Given the description of an element on the screen output the (x, y) to click on. 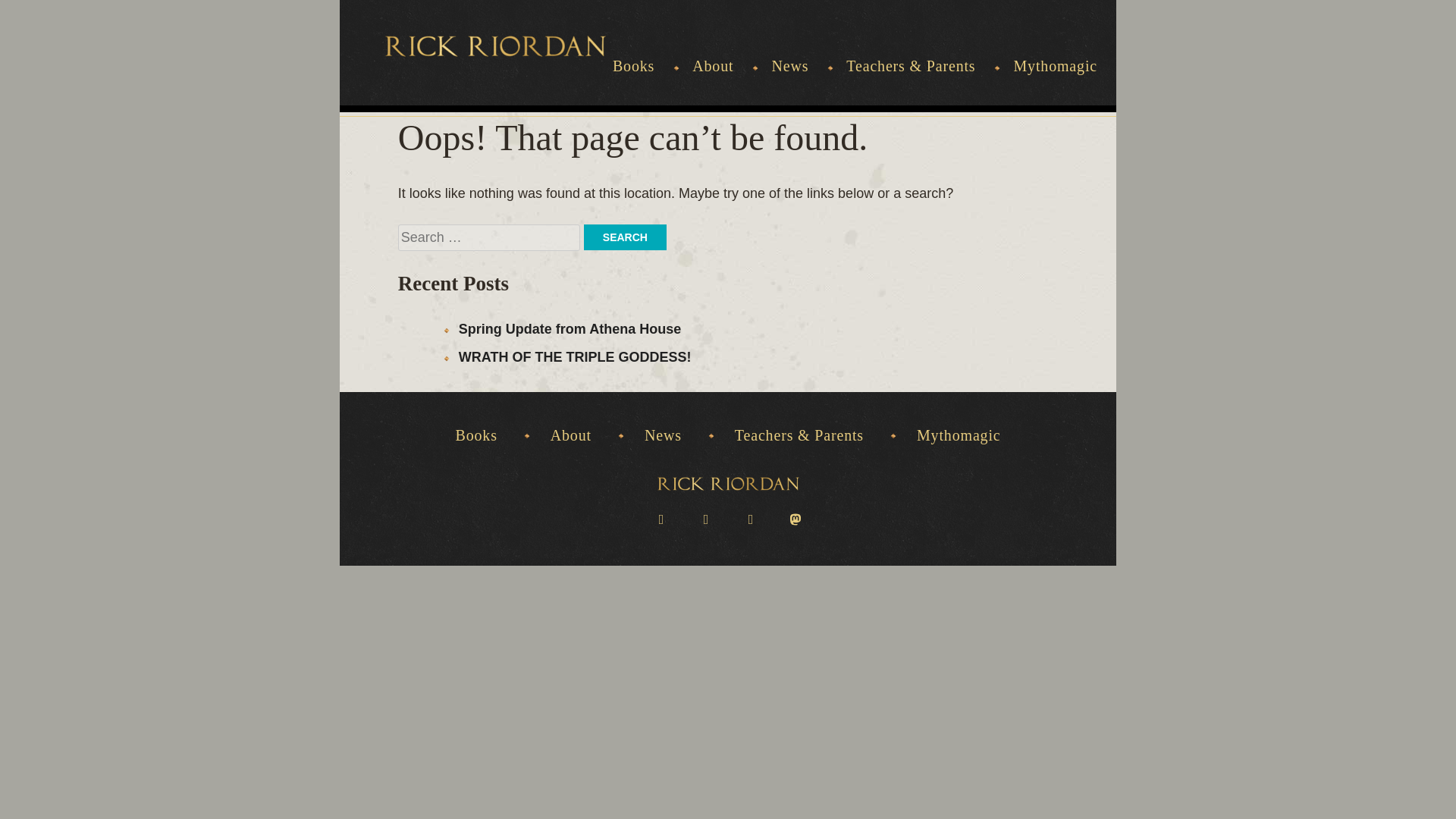
Mythomagic (1055, 81)
About (570, 434)
twitter (704, 518)
Search (624, 237)
instagram (750, 518)
Mythomagic (959, 434)
Books (475, 434)
Rick Riordan (726, 483)
Rick Riordan (495, 46)
Mastodon (795, 518)
Search (624, 237)
Search (624, 237)
WRATH OF THE TRIPLE GODDESS! (574, 356)
Spring Update from Athena House (569, 328)
facebook (659, 518)
